Given the description of an element on the screen output the (x, y) to click on. 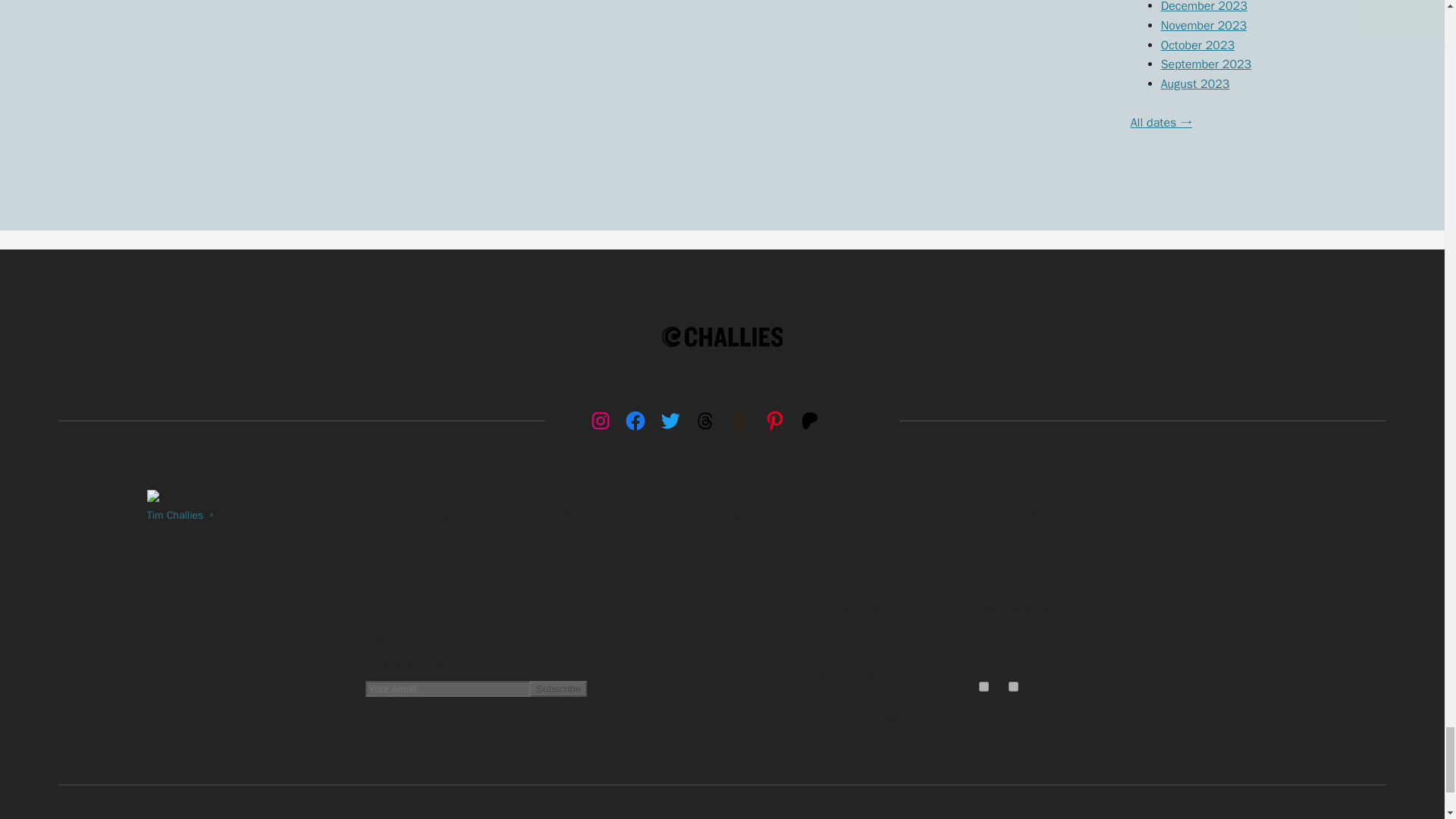
Subscribe (557, 688)
Challies logo (722, 336)
on (983, 686)
on (1013, 686)
